Given the description of an element on the screen output the (x, y) to click on. 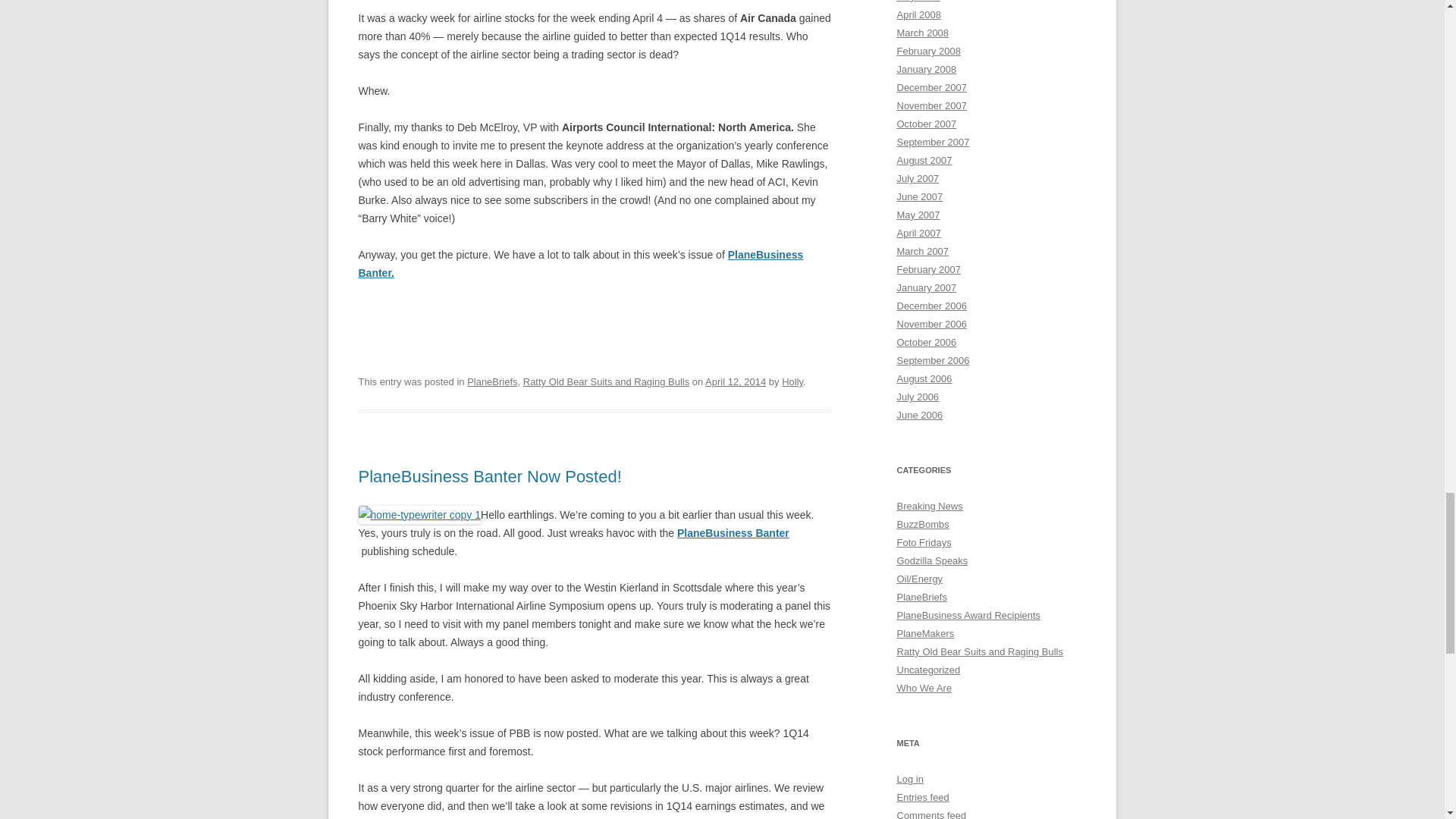
April 12, 2014 (734, 381)
View all posts by Holly (792, 381)
Holly (792, 381)
PlaneBriefs (491, 381)
Ratty Old Bear Suits and Raging Bulls (605, 381)
PlaneBusiness Banter Now Posted! (489, 476)
1:44 am (734, 381)
PlaneBusiness Banter (733, 532)
PlaneBusiness Banter. (580, 263)
